Given the description of an element on the screen output the (x, y) to click on. 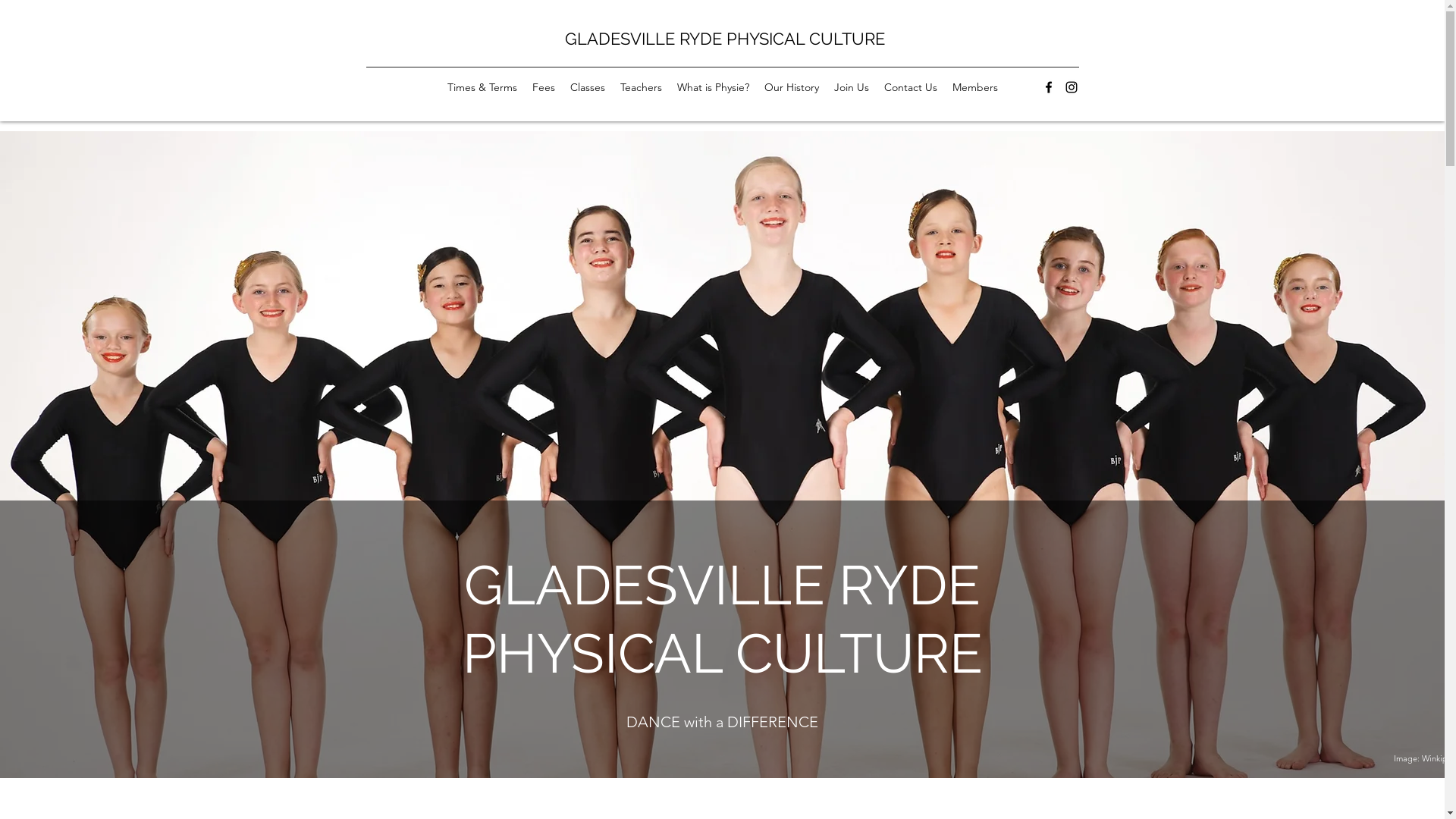
What is Physie? Element type: text (712, 86)
Times & Terms Element type: text (481, 86)
Our History Element type: text (791, 86)
Fees Element type: text (543, 86)
Join Us Element type: text (851, 86)
Teachers Element type: text (640, 86)
Members Element type: text (974, 86)
GLADESVILLE RYDE PHYSICAL CULTURE Element type: text (724, 38)
Classes Element type: text (587, 86)
Contact Us Element type: text (910, 86)
